Given the description of an element on the screen output the (x, y) to click on. 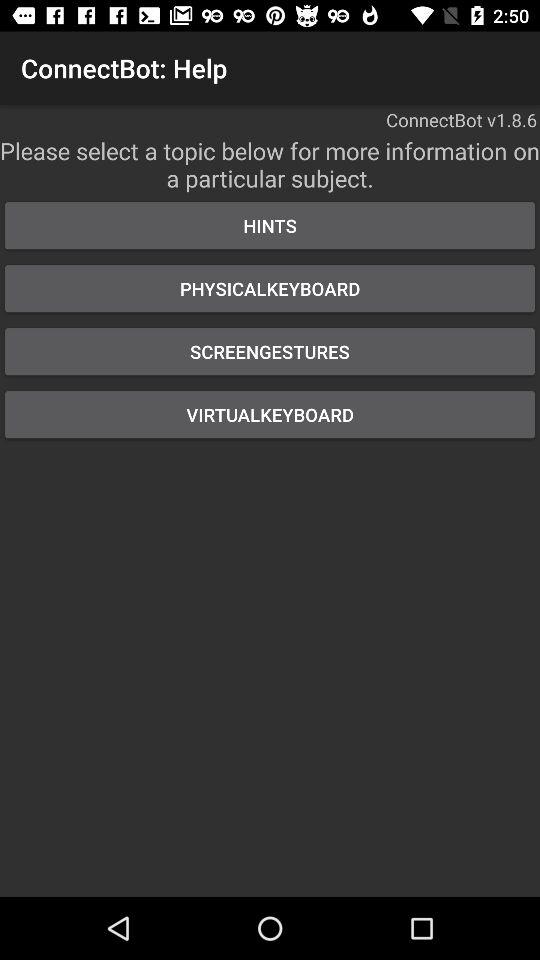
scroll until the hints icon (270, 225)
